Given the description of an element on the screen output the (x, y) to click on. 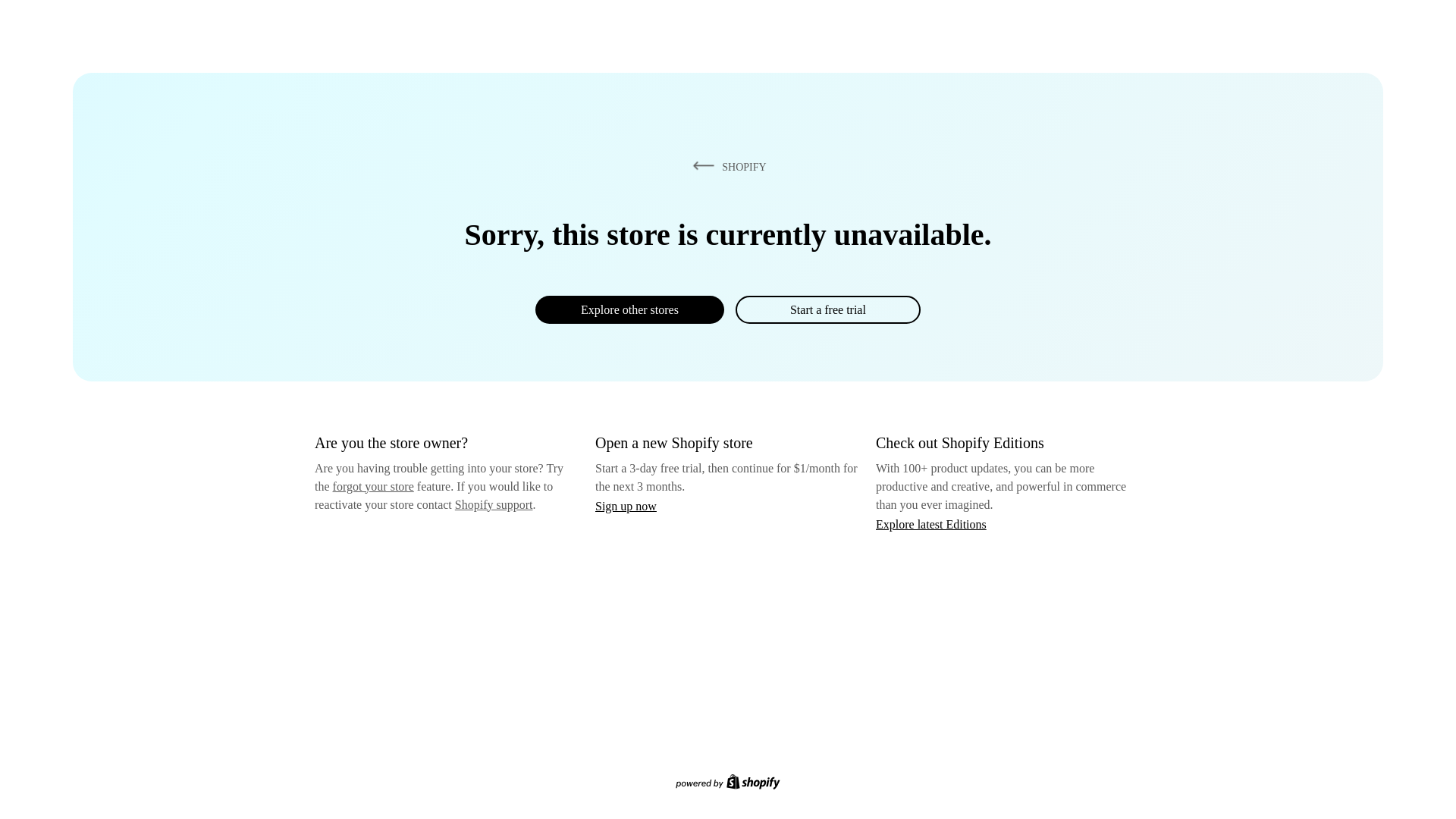
forgot your store (373, 486)
Start a free trial (827, 309)
Explore latest Editions (931, 523)
Explore other stores (629, 309)
SHOPIFY (726, 166)
Sign up now (625, 505)
Shopify support (493, 504)
